Given the description of an element on the screen output the (x, y) to click on. 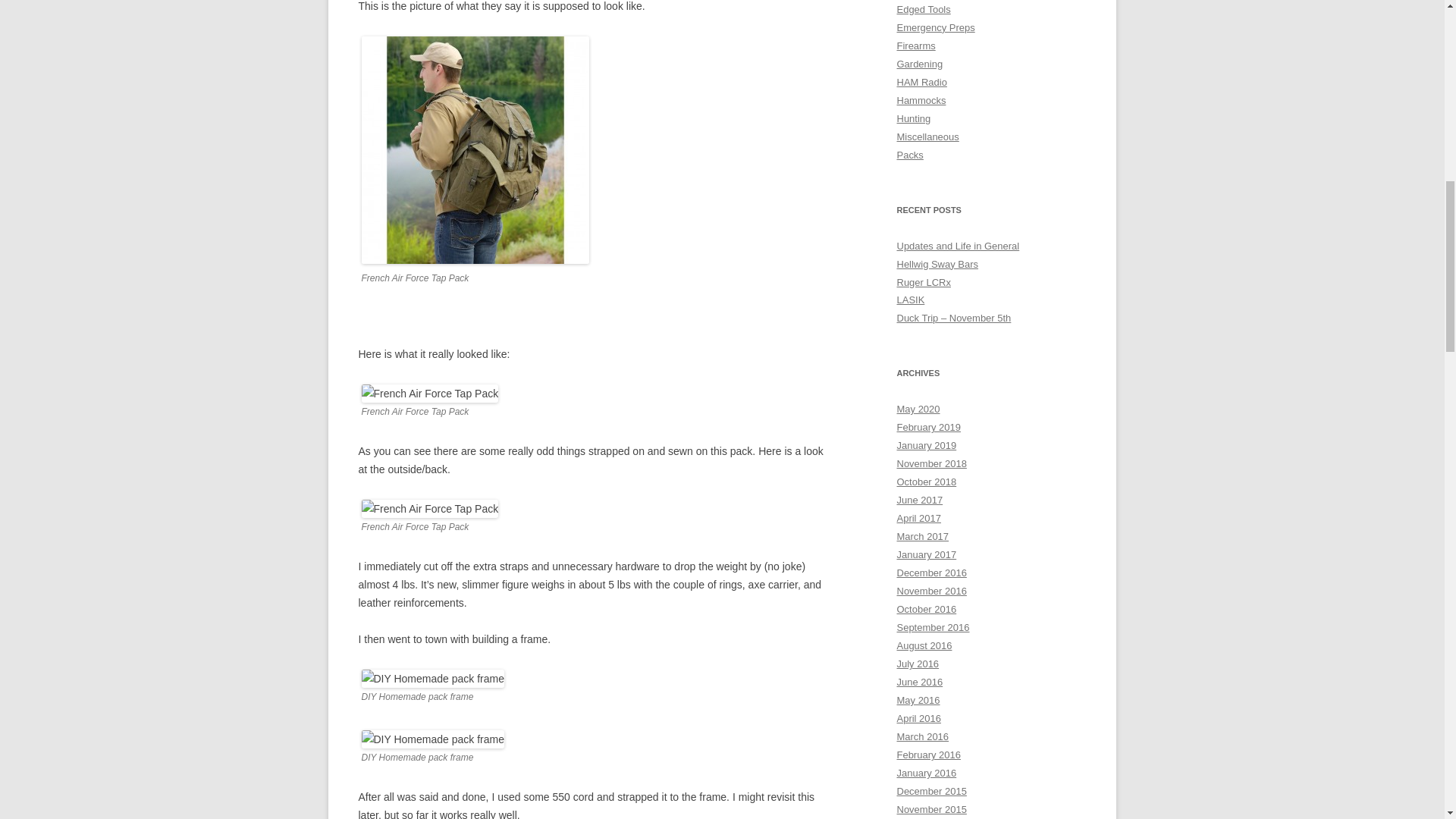
Hammocks (920, 100)
French Air Force Tap Pack (429, 508)
French Air Force Tap Pack (474, 149)
Edged Tools (923, 9)
Firearms (915, 45)
DIY Homemade pack frame (432, 739)
DIY Homemade pack frame (432, 678)
French Air Force Tap Pack (429, 393)
HAM Radio (921, 81)
Gardening (919, 63)
Emergency Preps (935, 27)
